Given the description of an element on the screen output the (x, y) to click on. 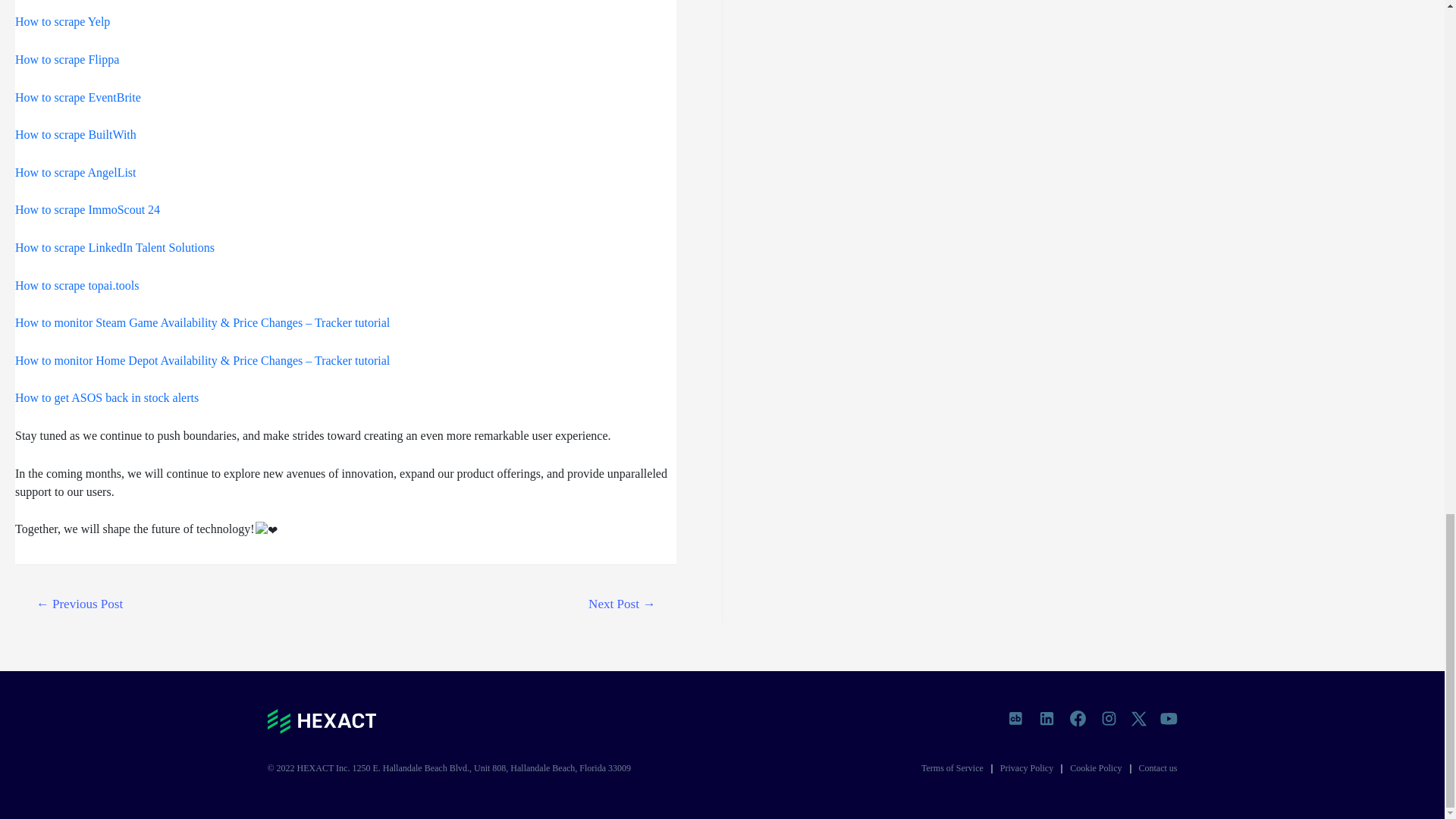
How to scrape Yelp (62, 21)
How to scrape BuiltWith (75, 133)
How to scrape ImmoScout 24 (87, 209)
How to scrape AngelList (75, 172)
How to scrape EventBrite (77, 96)
How to scrape Flippa (66, 59)
